Given the description of an element on the screen output the (x, y) to click on. 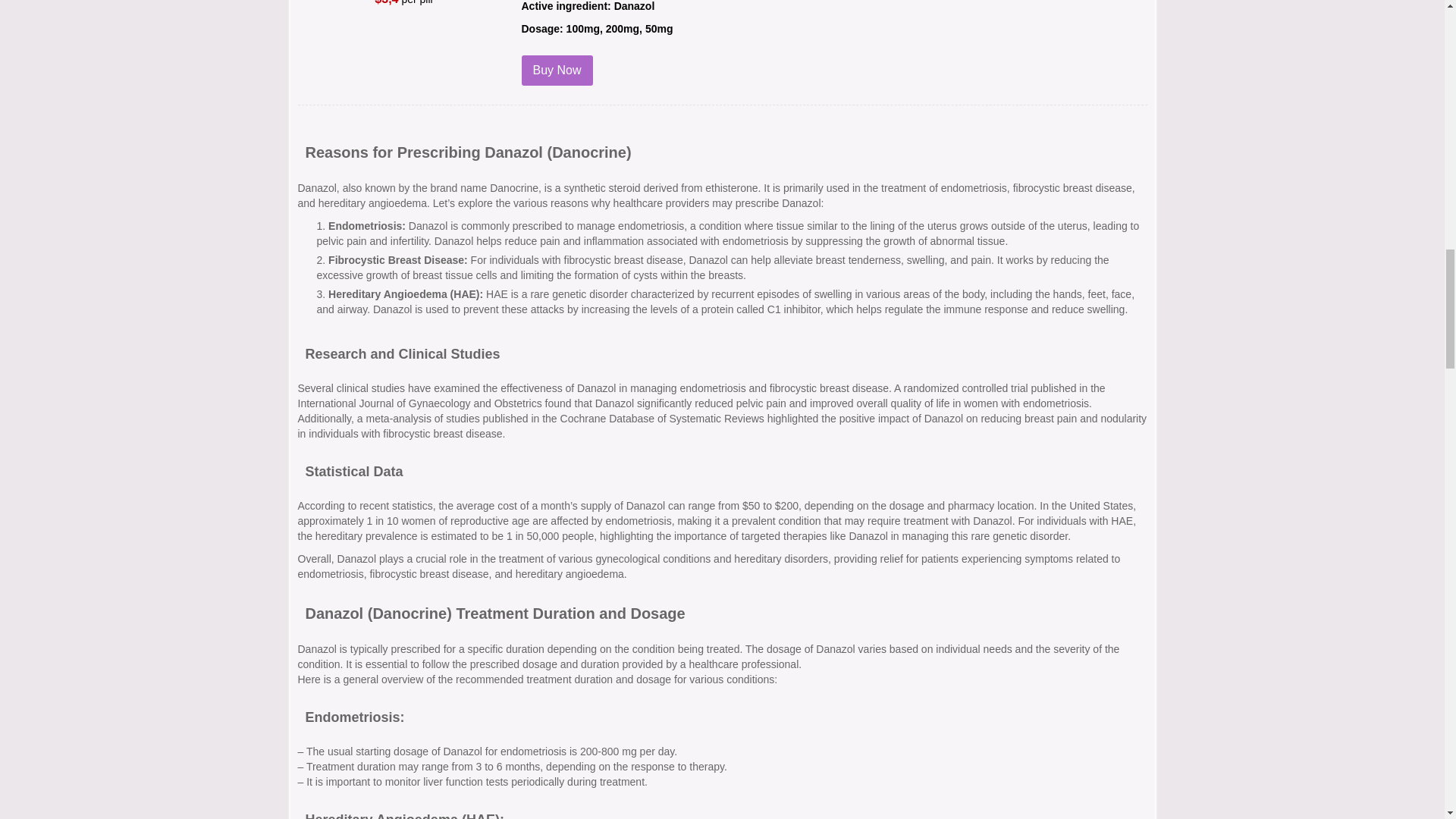
Buy Now (556, 70)
